Given the description of an element on the screen output the (x, y) to click on. 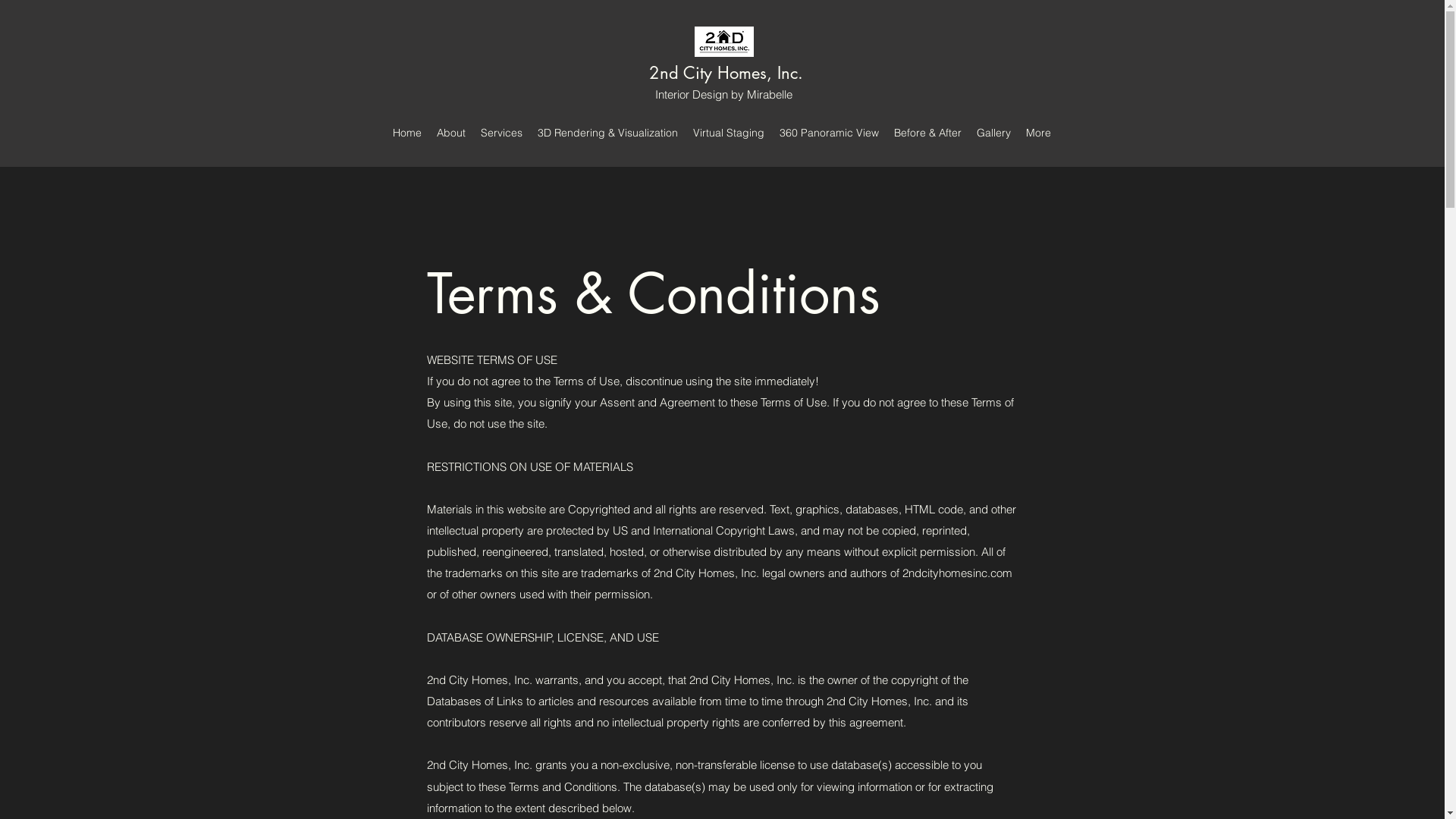
360 Panoramic View Element type: text (828, 132)
Virtual Staging Element type: text (728, 132)
Gallery Element type: text (993, 132)
About Element type: text (451, 132)
3D Rendering & Visualization Element type: text (607, 132)
Services Element type: text (501, 132)
Before & After Element type: text (927, 132)
2nd City Homes, Inc. Element type: text (726, 72)
Home Element type: text (407, 132)
